Given the description of an element on the screen output the (x, y) to click on. 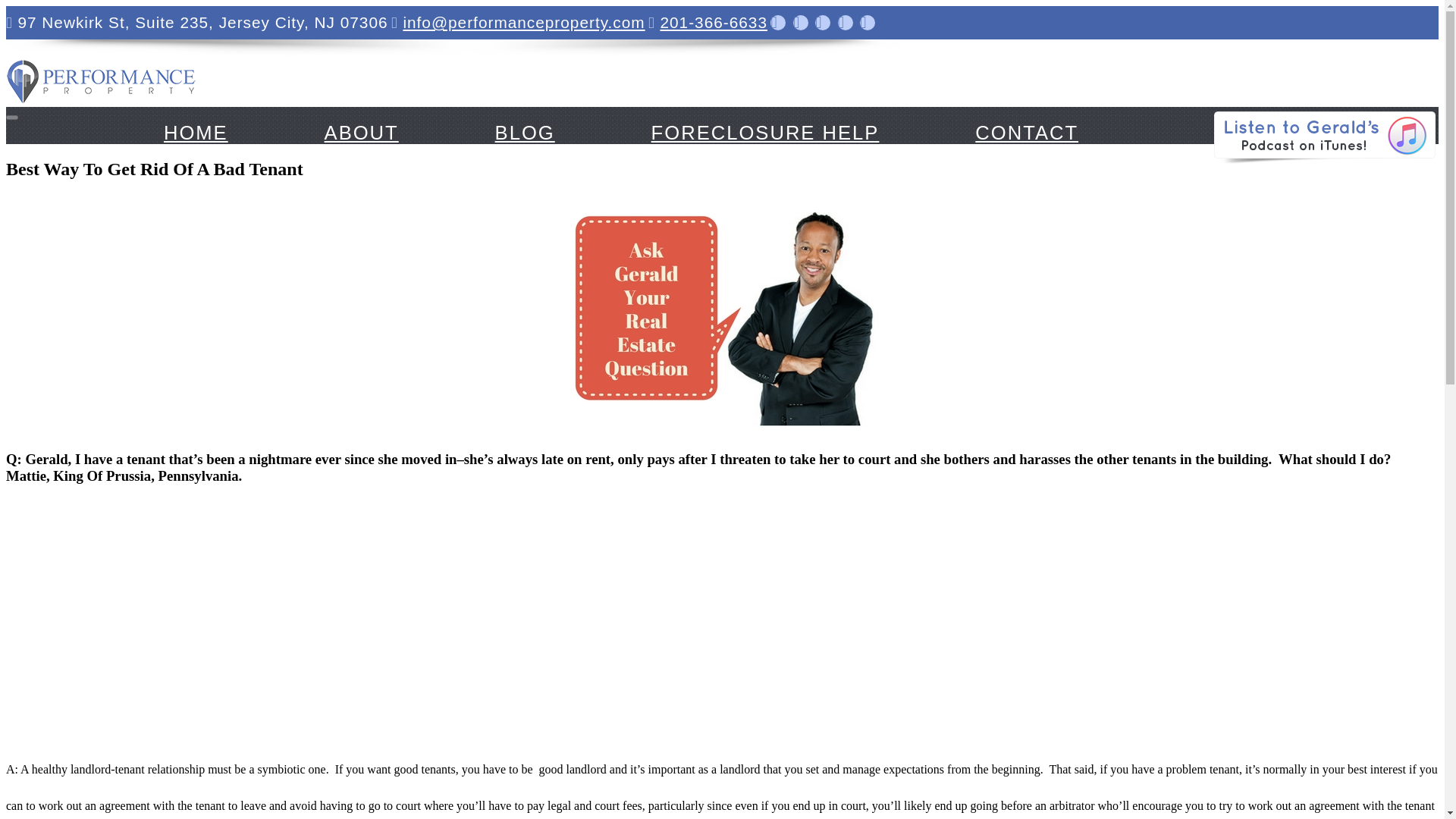
Toggle navigation (11, 117)
FORECLOSURE HELP (765, 132)
CONTACT (1026, 132)
HOME (195, 132)
BLOG (524, 132)
ABOUT (361, 132)
201-366-6633 (713, 22)
